Given the description of an element on the screen output the (x, y) to click on. 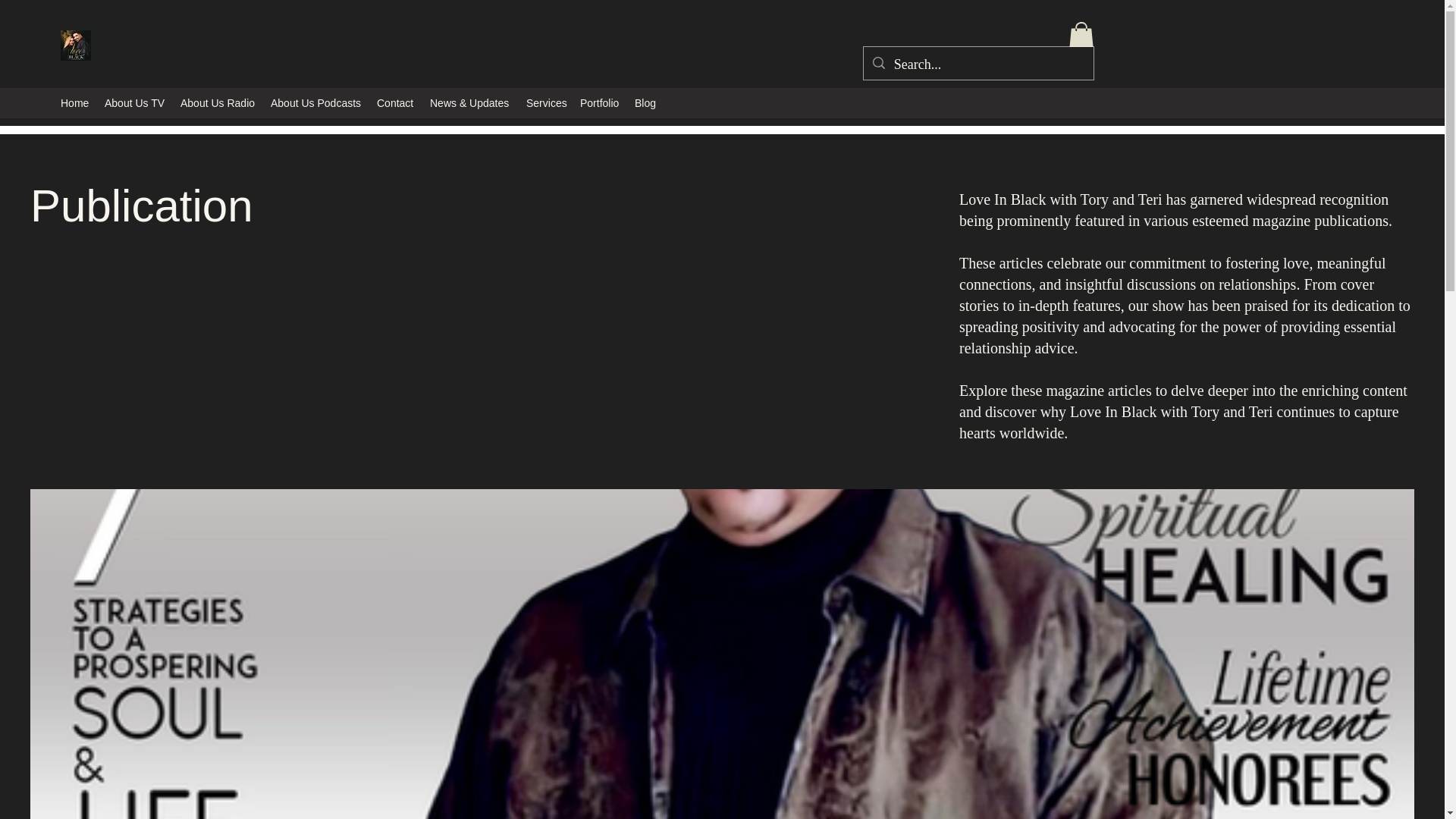
About Us Radio (218, 102)
Log In (1023, 58)
Services (545, 102)
Home (74, 102)
About Us TV (135, 102)
About Us Podcasts (316, 102)
Blog (645, 102)
Contact (395, 102)
Portfolio (599, 102)
